Given the description of an element on the screen output the (x, y) to click on. 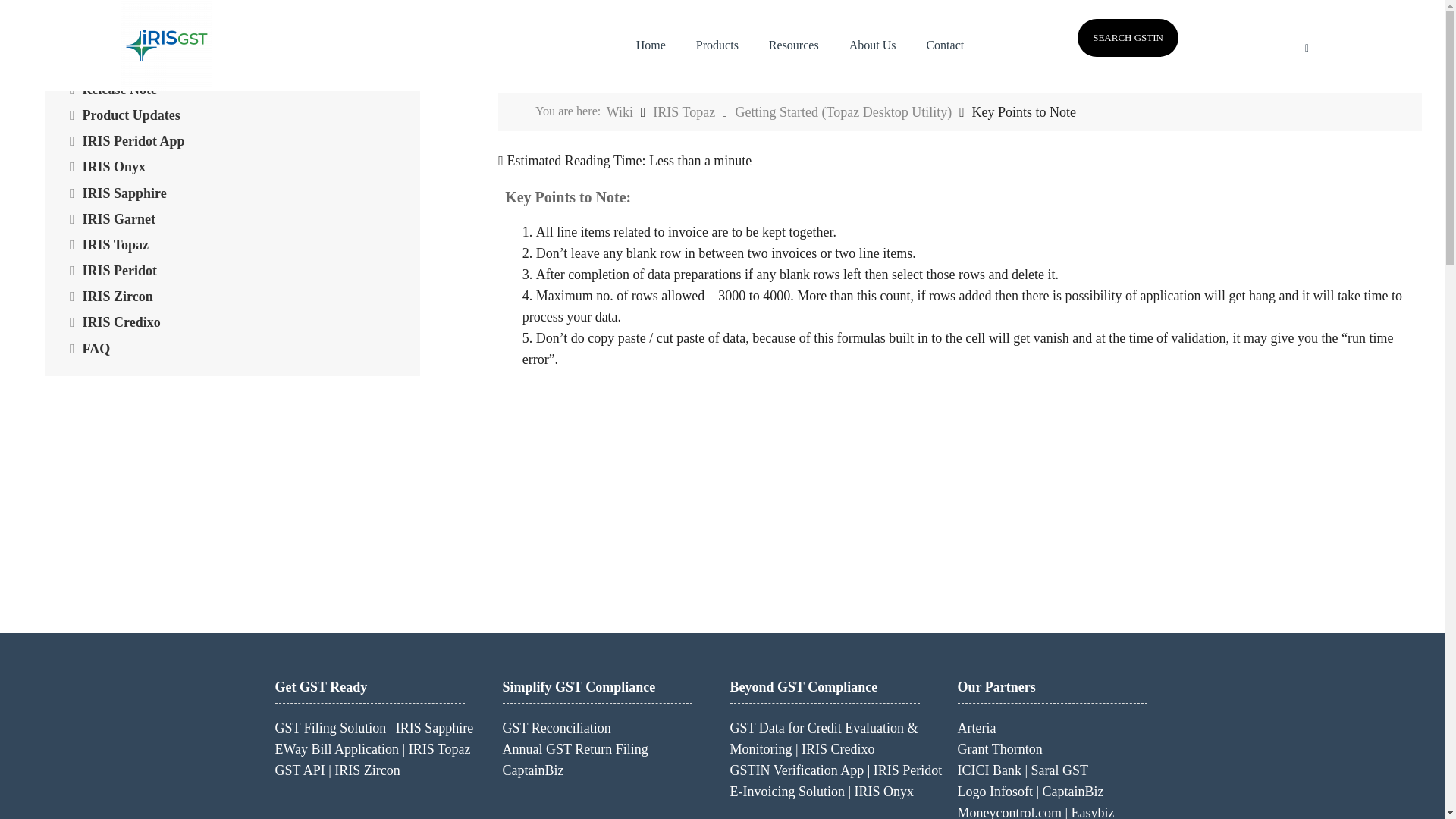
Resources (794, 45)
Products (717, 45)
Home (651, 45)
SEARCH GSTIN (1127, 37)
Contact (944, 45)
About Us (872, 45)
